Given the description of an element on the screen output the (x, y) to click on. 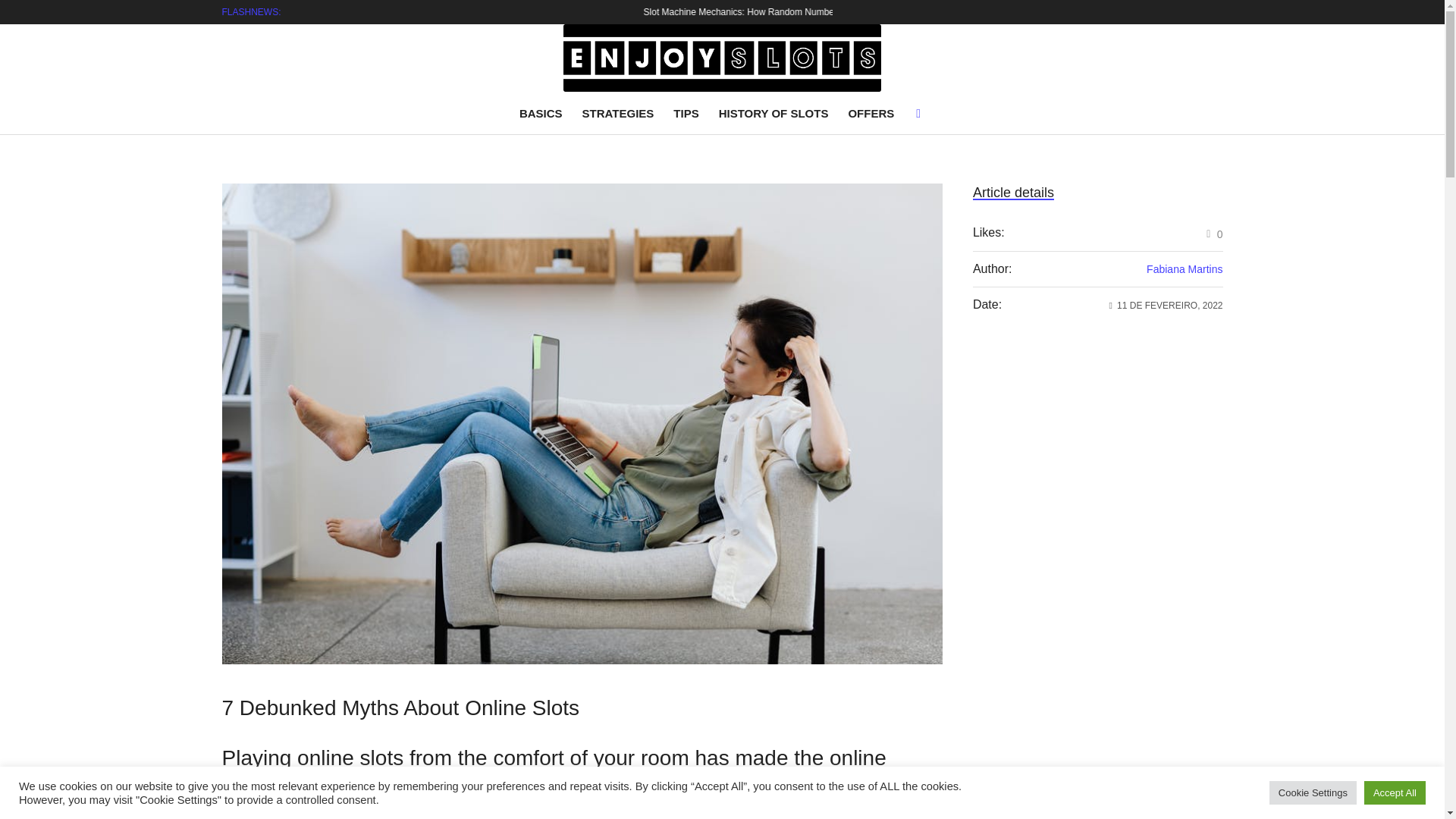
CONTACT US (1031, 11)
STRATEGIES (617, 113)
OFFERS (871, 113)
WIDGETS (1135, 11)
ABOUT US (1086, 11)
BASICS (545, 113)
TYPOGRAPHY (1190, 11)
HISTORY OF SLOTS (773, 113)
